Given the description of an element on the screen output the (x, y) to click on. 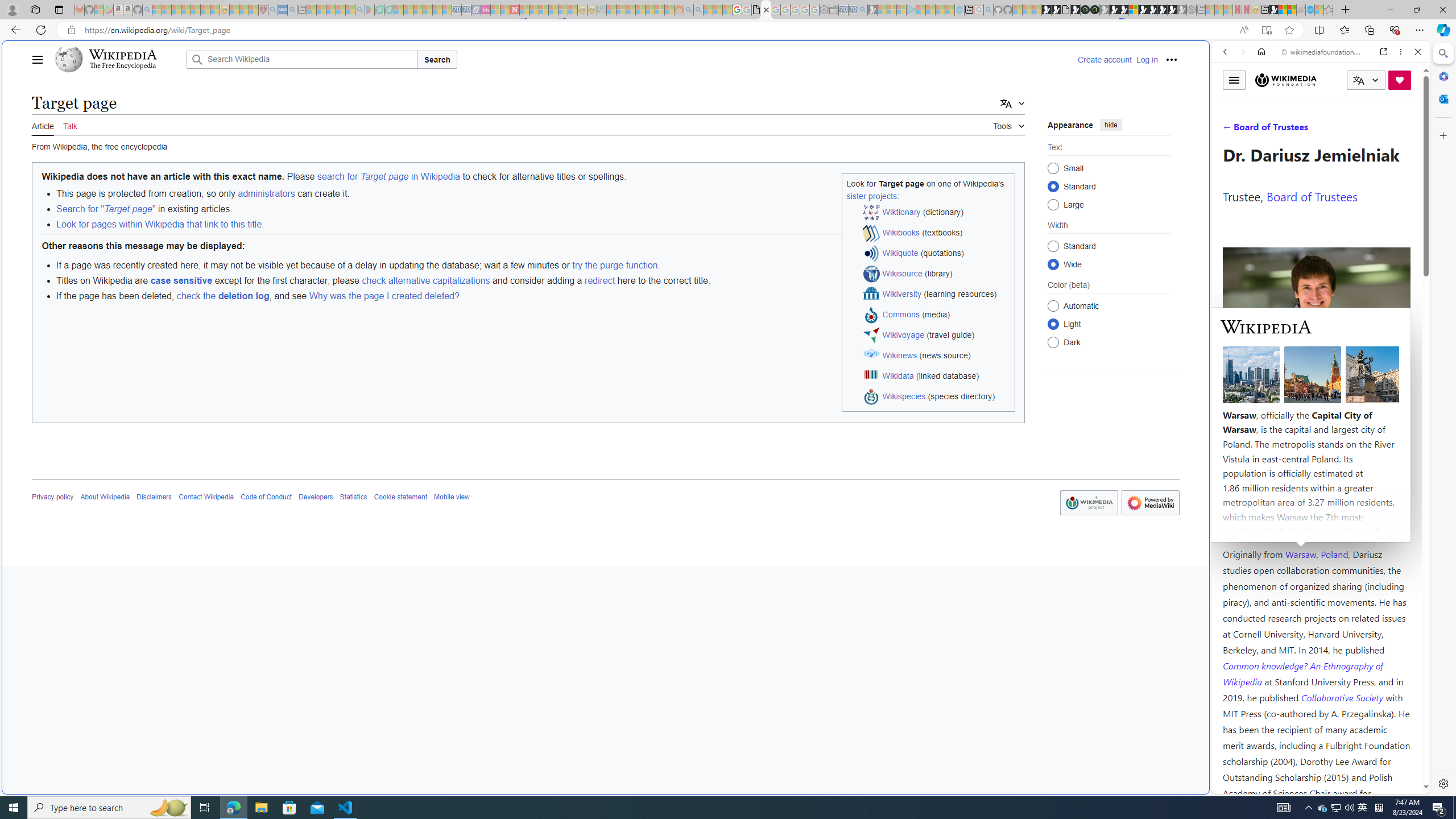
Dark (1053, 341)
New tab - Sleeping (1200, 9)
Article (42, 124)
Global web icon (1232, 786)
Wikispecies (904, 396)
WEB   (1230, 130)
Look for pages within Wikipedia that link to this title (158, 224)
Kozminski University (1316, 486)
Search for "Target page" (105, 208)
Wikidata (898, 375)
